Given the description of an element on the screen output the (x, y) to click on. 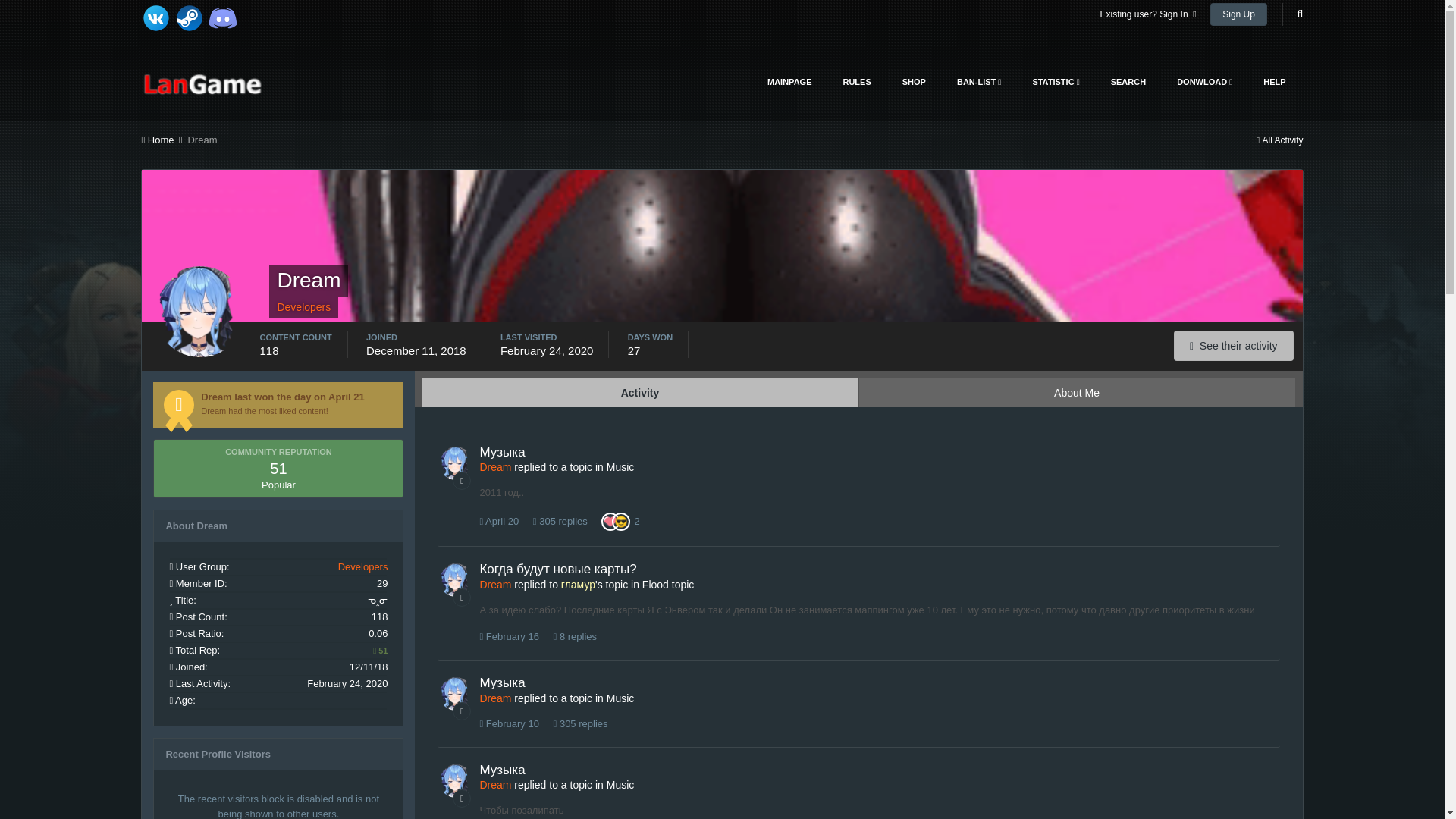
Sign Up (1237, 14)
Go to Dream's profile (455, 580)
Dream's Content (1233, 345)
Like (610, 521)
STATISTIC (1055, 81)
MAINPAGE (789, 81)
Go to Dream's profile (455, 462)
Existing user? Sign In   (1147, 14)
Member's total reputation (379, 650)
Dream (201, 139)
